Given the description of an element on the screen output the (x, y) to click on. 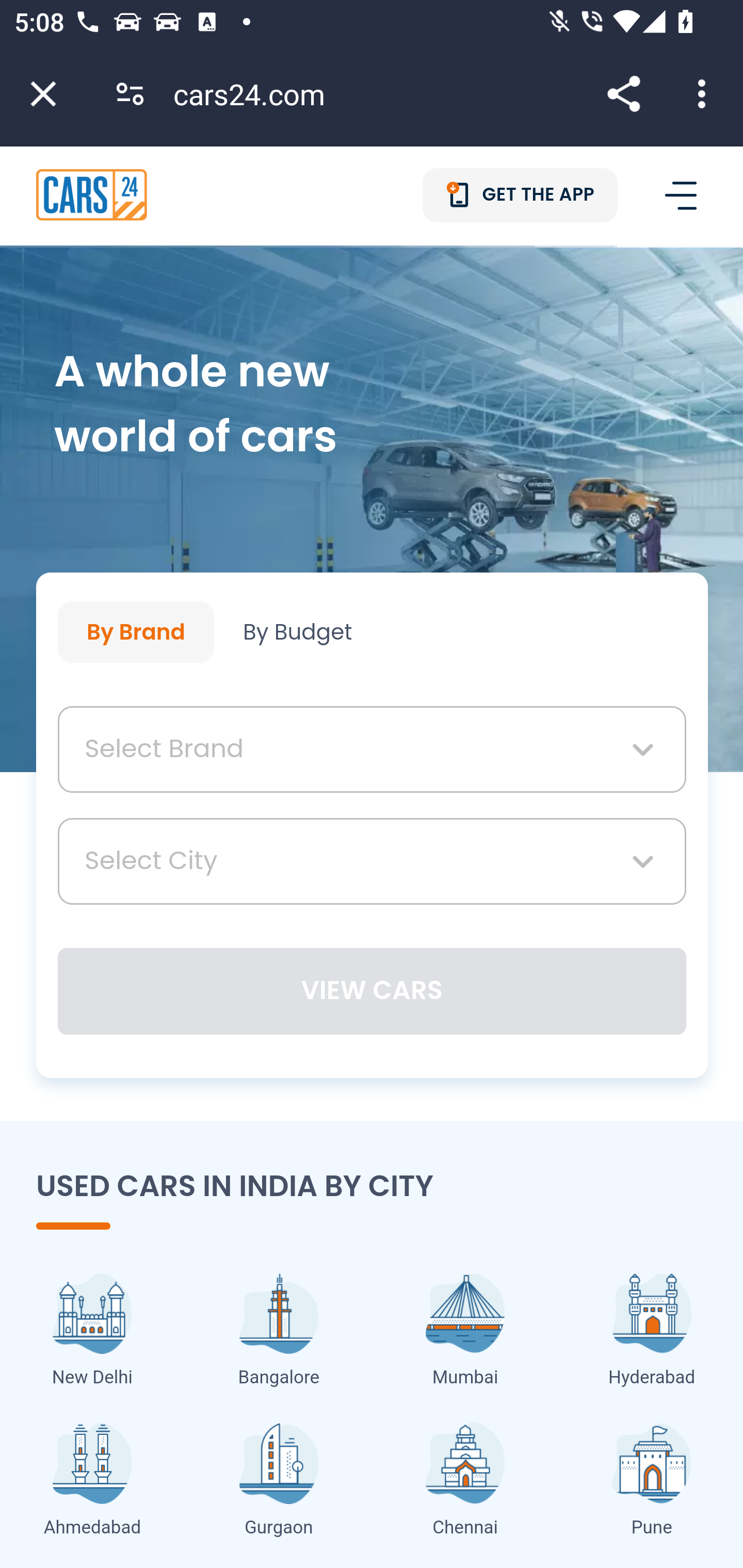
Close tab (43, 93)
Share (623, 93)
Customize and control Google Chrome (705, 93)
Connection is secure (129, 93)
cars24.com (256, 93)
GET THE APP (520, 195)
logo (91, 194)
VIEW CARS (372, 990)
New Delhi New Delhi New Delhi New Delhi (92, 1333)
Bangalore Bangalore Bangalore Bangalore (278, 1333)
Mumbai Mumbai Mumbai Mumbai (464, 1333)
Hyderabad Hyderabad Hyderabad Hyderabad (651, 1333)
Ahmedabad Ahmedabad Ahmedabad Ahmedabad (92, 1484)
Gurgaon Gurgaon Gurgaon Gurgaon (278, 1484)
Chennai Chennai Chennai Chennai (464, 1484)
Pune Pune Pune Pune (651, 1484)
